Given the description of an element on the screen output the (x, y) to click on. 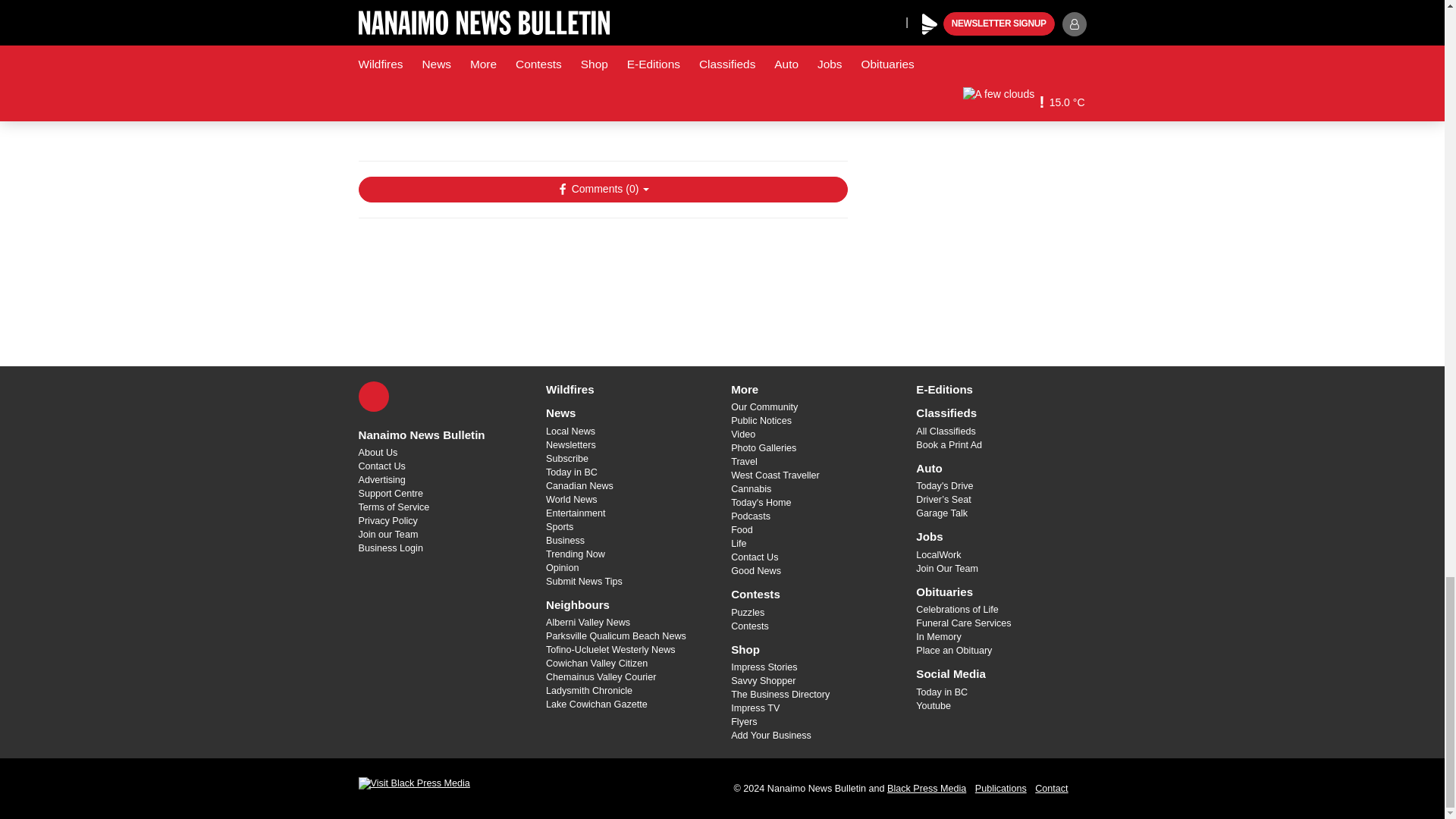
Show Comments (602, 189)
X (373, 396)
